Given the description of an element on the screen output the (x, y) to click on. 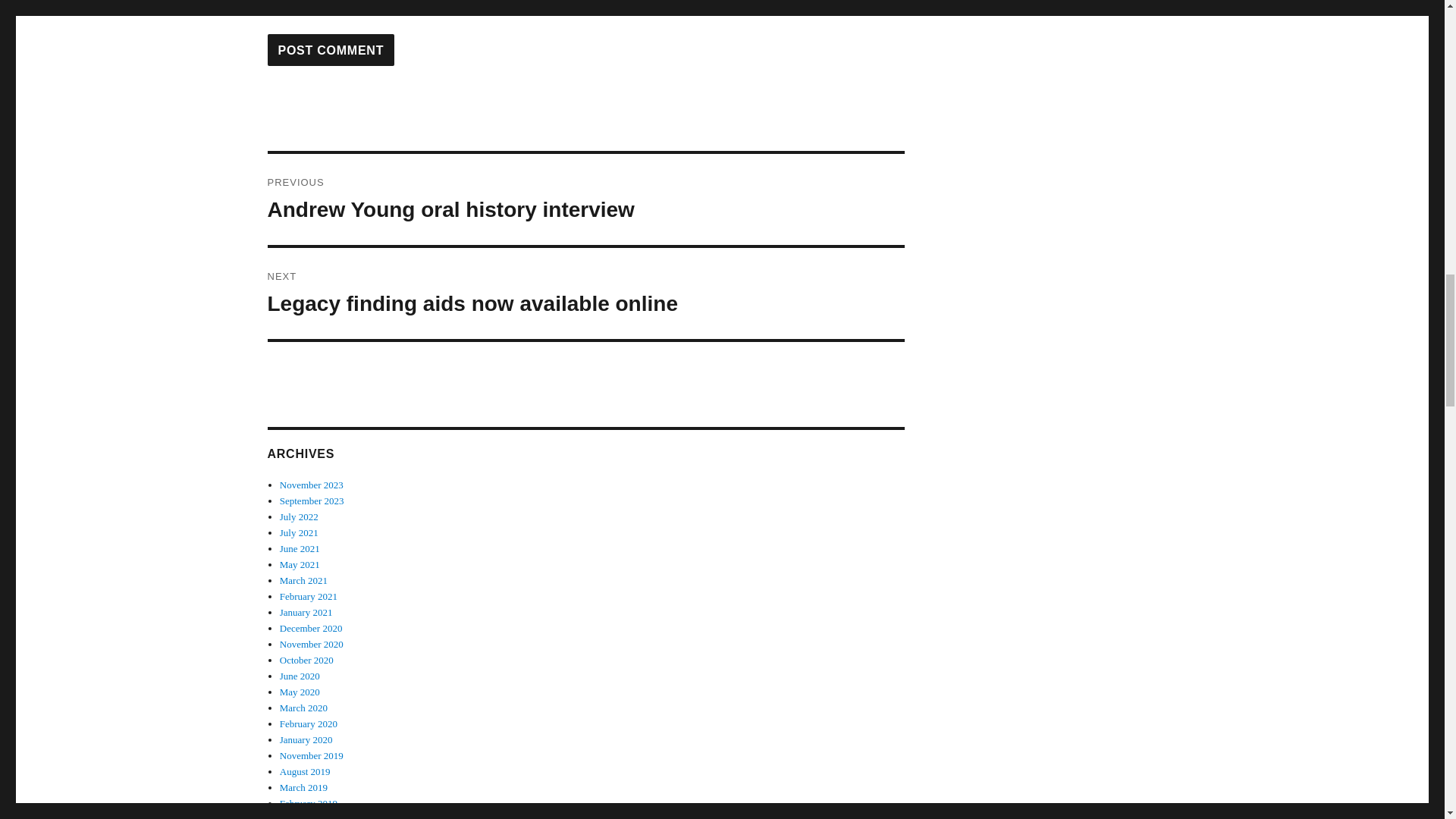
February 2021 (308, 595)
October 2020 (306, 659)
Post Comment (330, 50)
Post Comment (330, 50)
September 2023 (311, 500)
July 2022 (298, 516)
yes (271, 2)
July 2021 (298, 532)
November 2020 (311, 644)
May 2020 (299, 691)
